Given the description of an element on the screen output the (x, y) to click on. 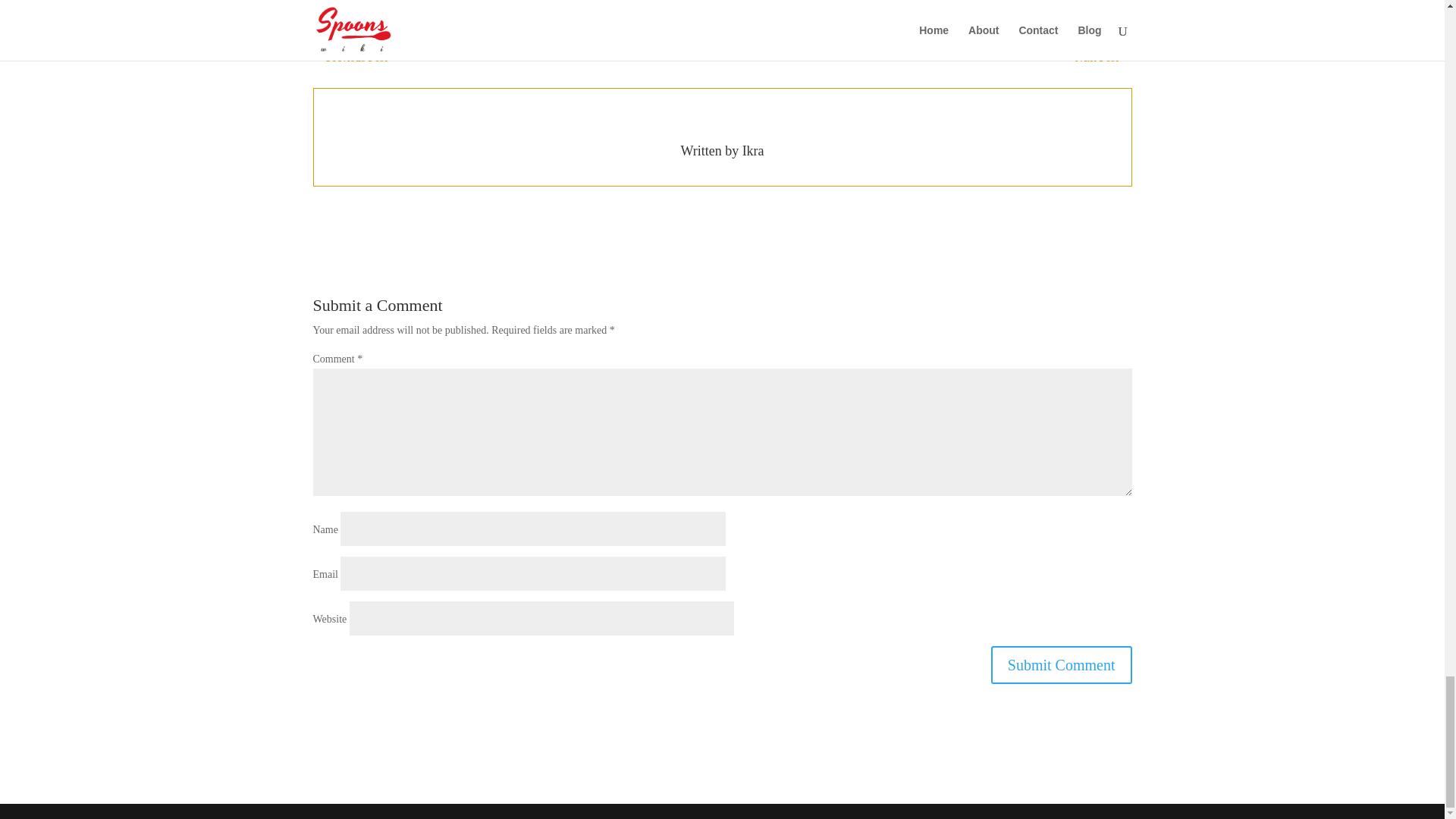
Submit Comment (1061, 664)
Submit Comment (1061, 664)
